Given the description of an element on the screen output the (x, y) to click on. 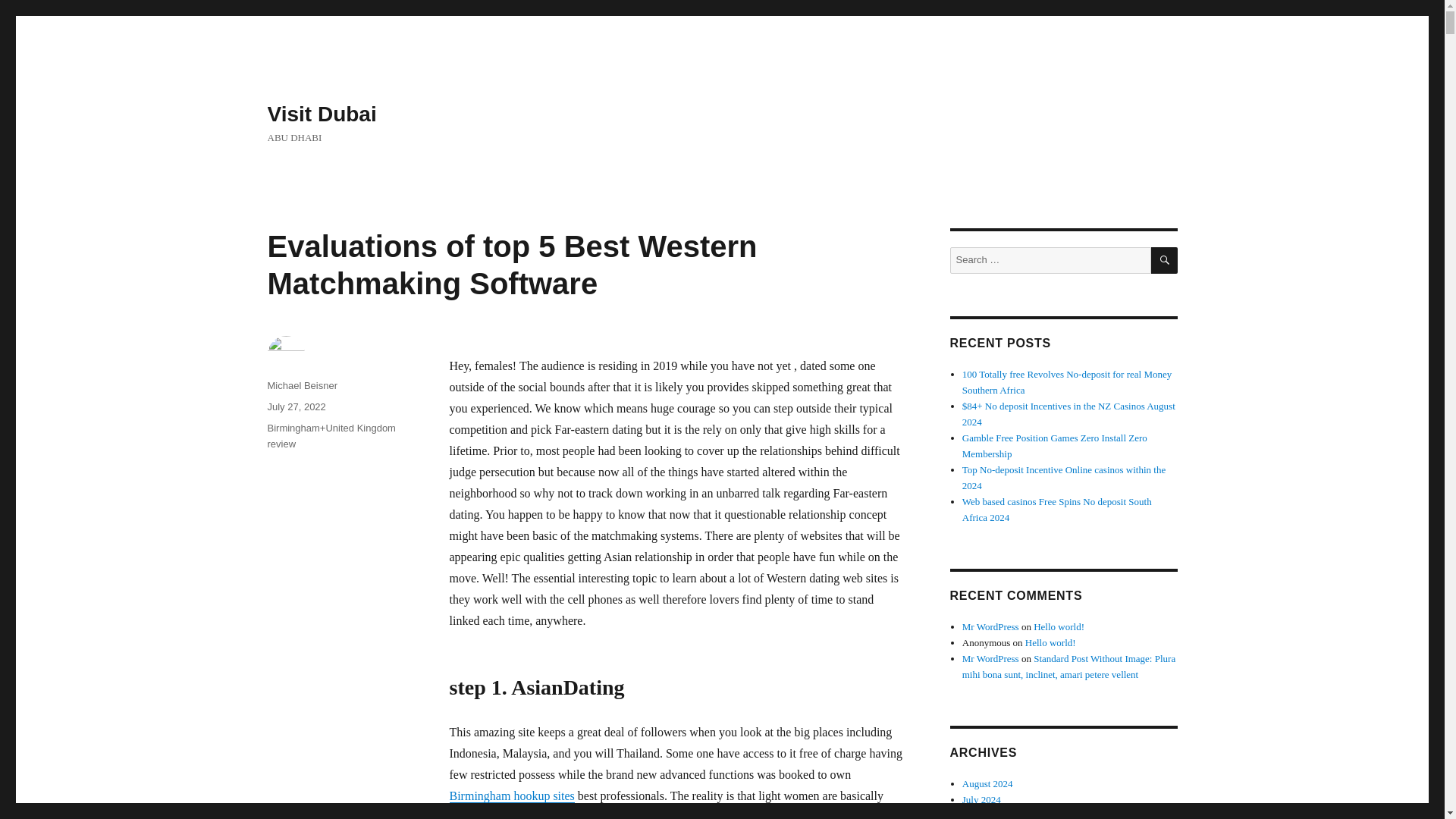
Birmingham hookup sites (510, 795)
Visit Dubai (320, 114)
Michael Beisner (301, 385)
July 27, 2022 (295, 406)
